Given the description of an element on the screen output the (x, y) to click on. 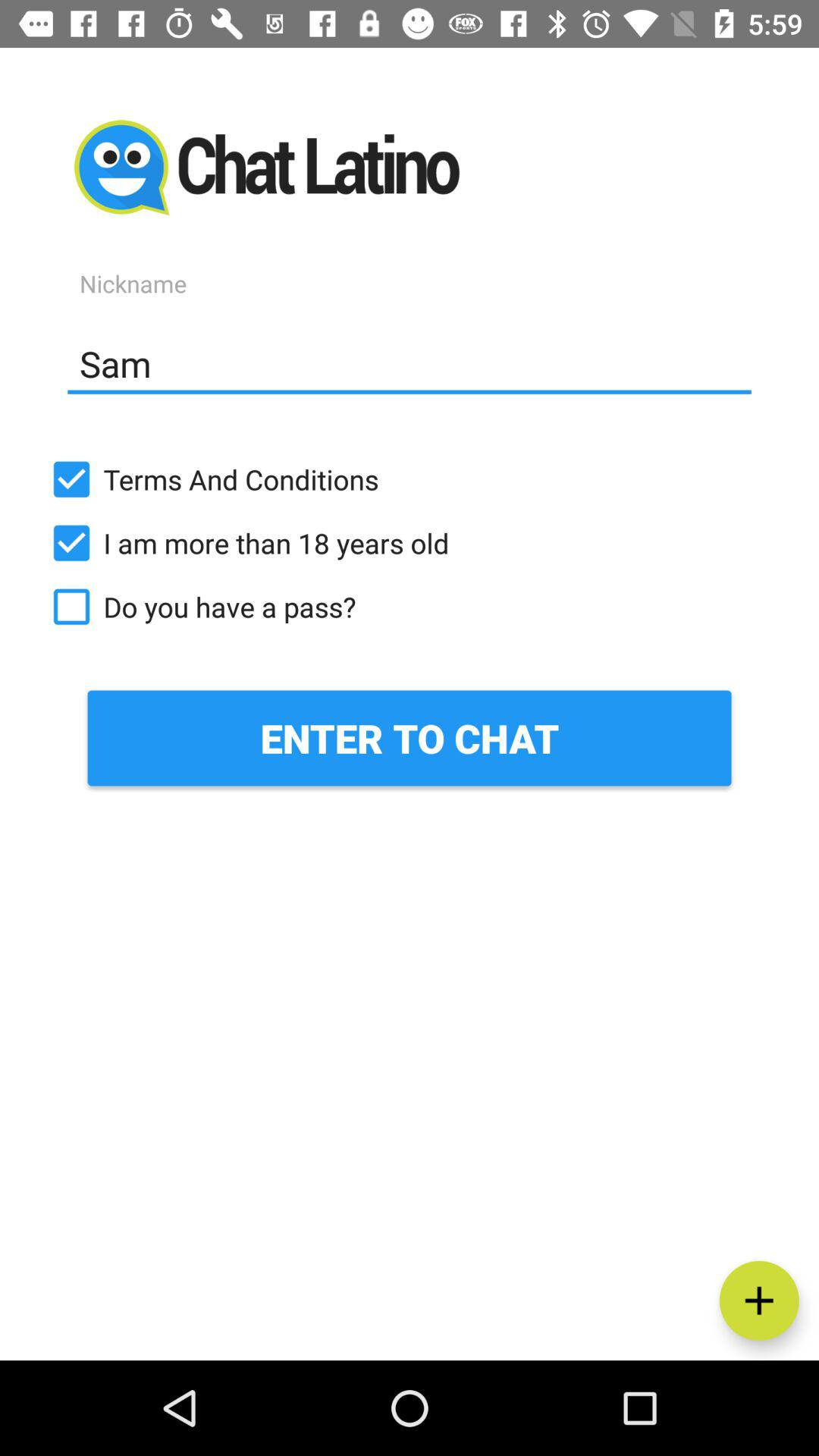
select the do you have (409, 606)
